Given the description of an element on the screen output the (x, y) to click on. 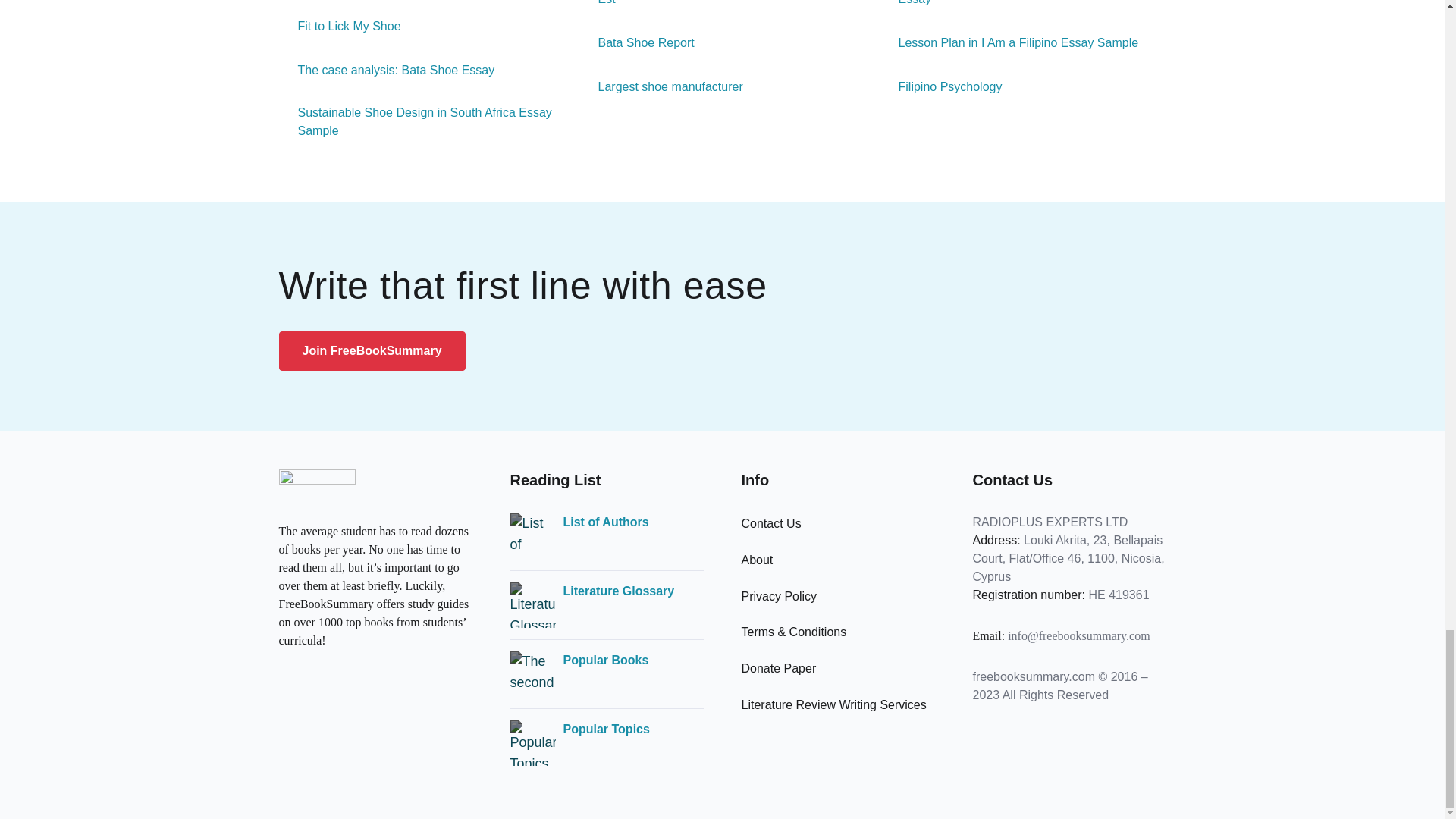
Bata Shoe Report (636, 43)
Lesson Plan in I Am a Filipino Essay Sample (1008, 43)
How Influential K-Pop is to Filipino Teenagers Essay (1022, 4)
The Shoe Horn Sonata and Dulce Et Decorum Est (722, 4)
List of Authors (604, 522)
Privacy Policy (778, 595)
The case analysis: Bata Shoe Essay (387, 70)
Literature Glossary (618, 591)
About (757, 559)
Contact Us (771, 522)
